Given the description of an element on the screen output the (x, y) to click on. 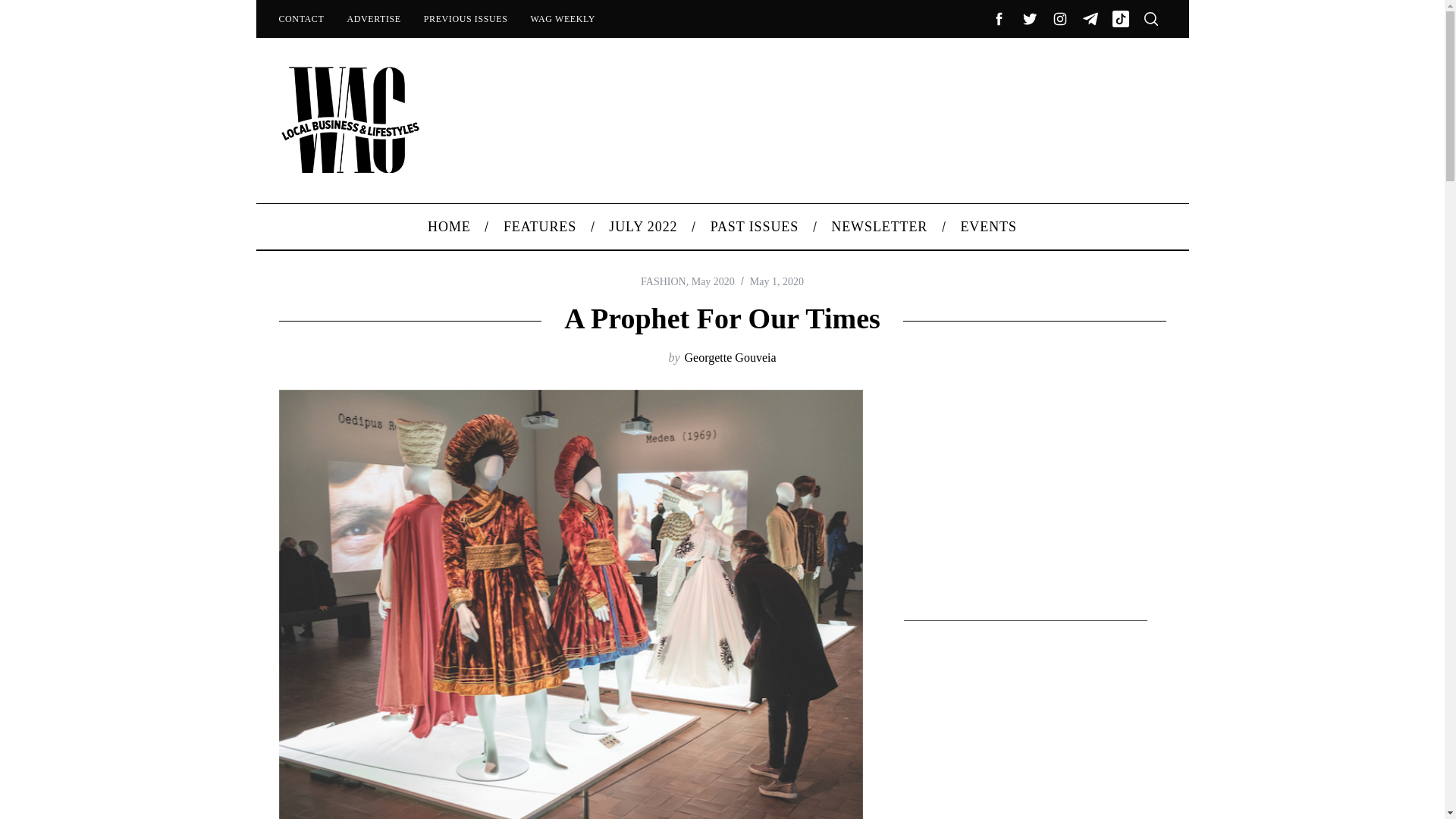
ADVERTISE (373, 18)
FEATURES (539, 226)
PREVIOUS ISSUES (465, 18)
PAST ISSUES (754, 226)
JULY 2022 (643, 226)
HOME (449, 226)
WAG WEEKLY (562, 18)
CONTACT (300, 18)
